Given the description of an element on the screen output the (x, y) to click on. 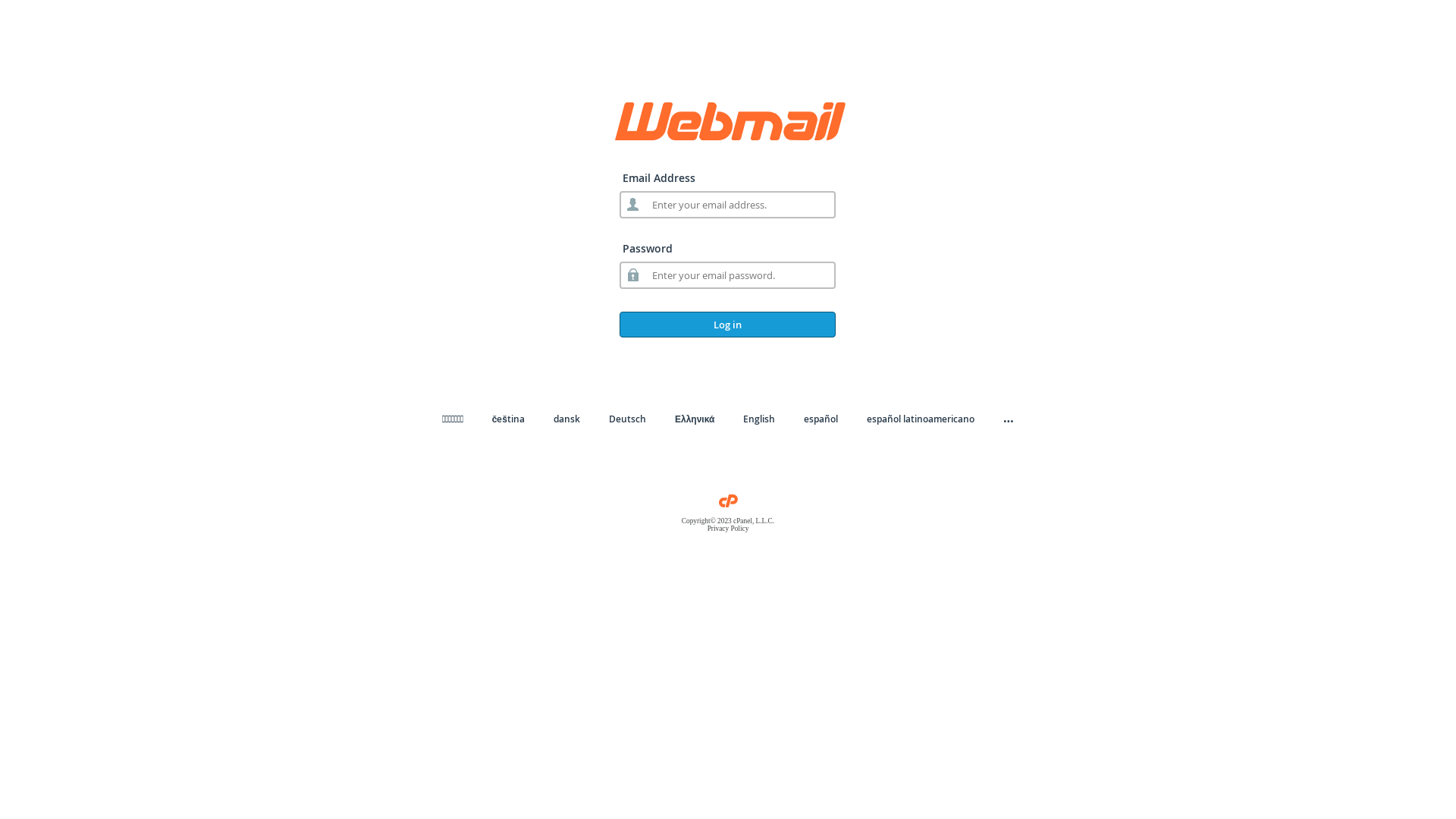
English Element type: text (759, 418)
Log in Element type: text (727, 324)
Privacy Policy Element type: text (728, 528)
Deutsch Element type: text (627, 418)
dansk Element type: text (566, 418)
